Given the description of an element on the screen output the (x, y) to click on. 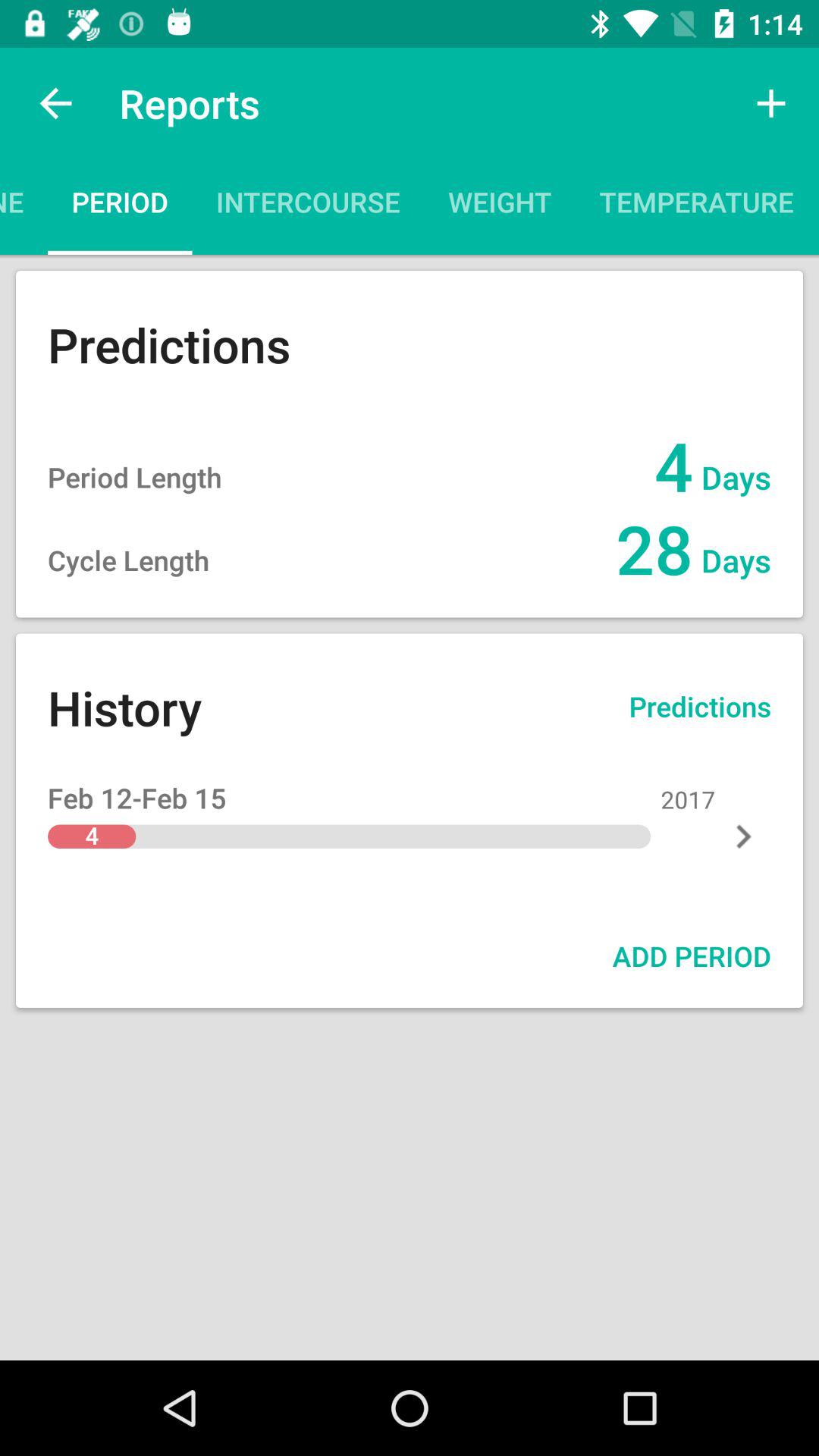
click app to the left of reports icon (55, 103)
